Given the description of an element on the screen output the (x, y) to click on. 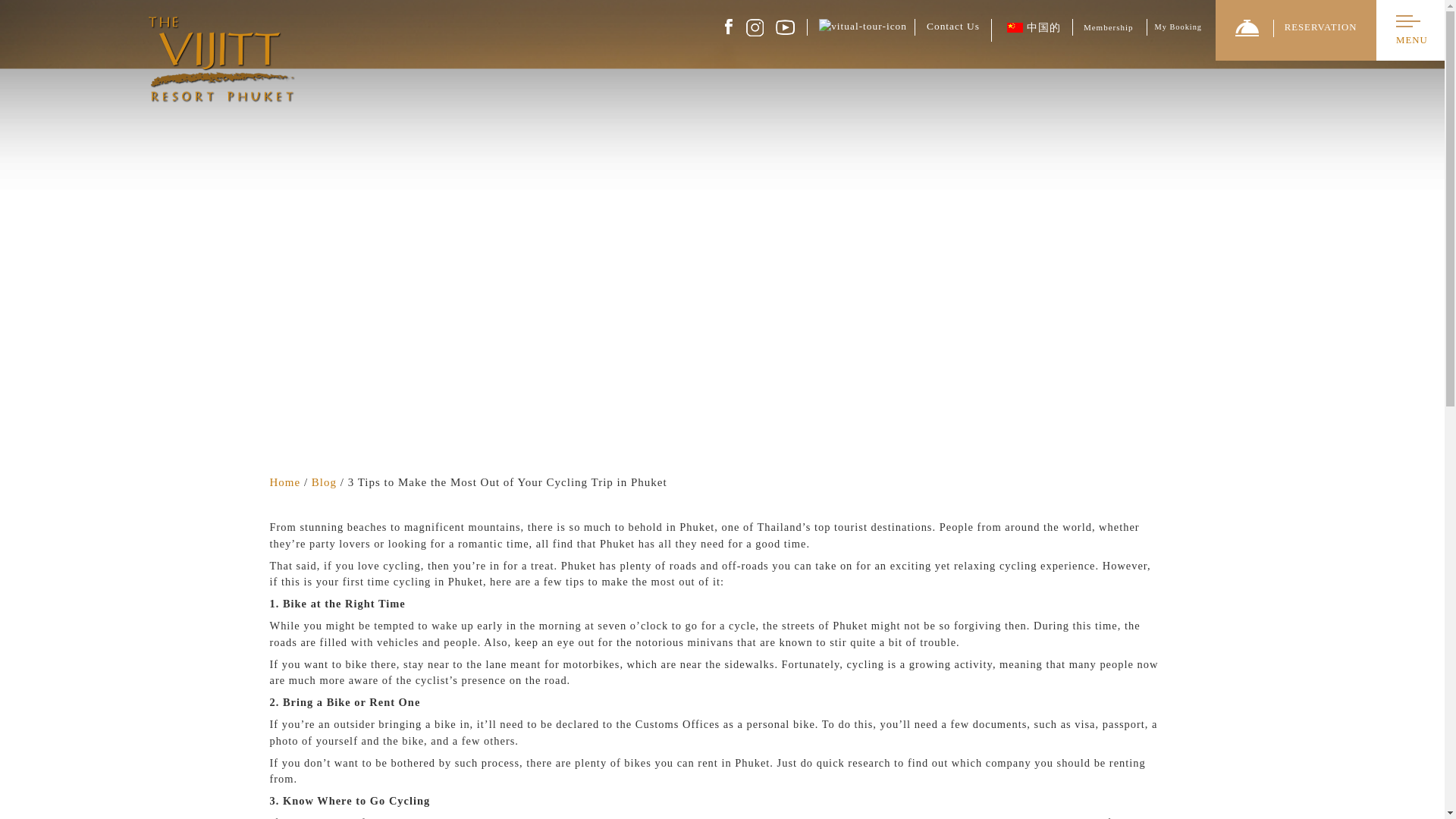
Contact Us (946, 27)
My Booking (1178, 26)
